Given the description of an element on the screen output the (x, y) to click on. 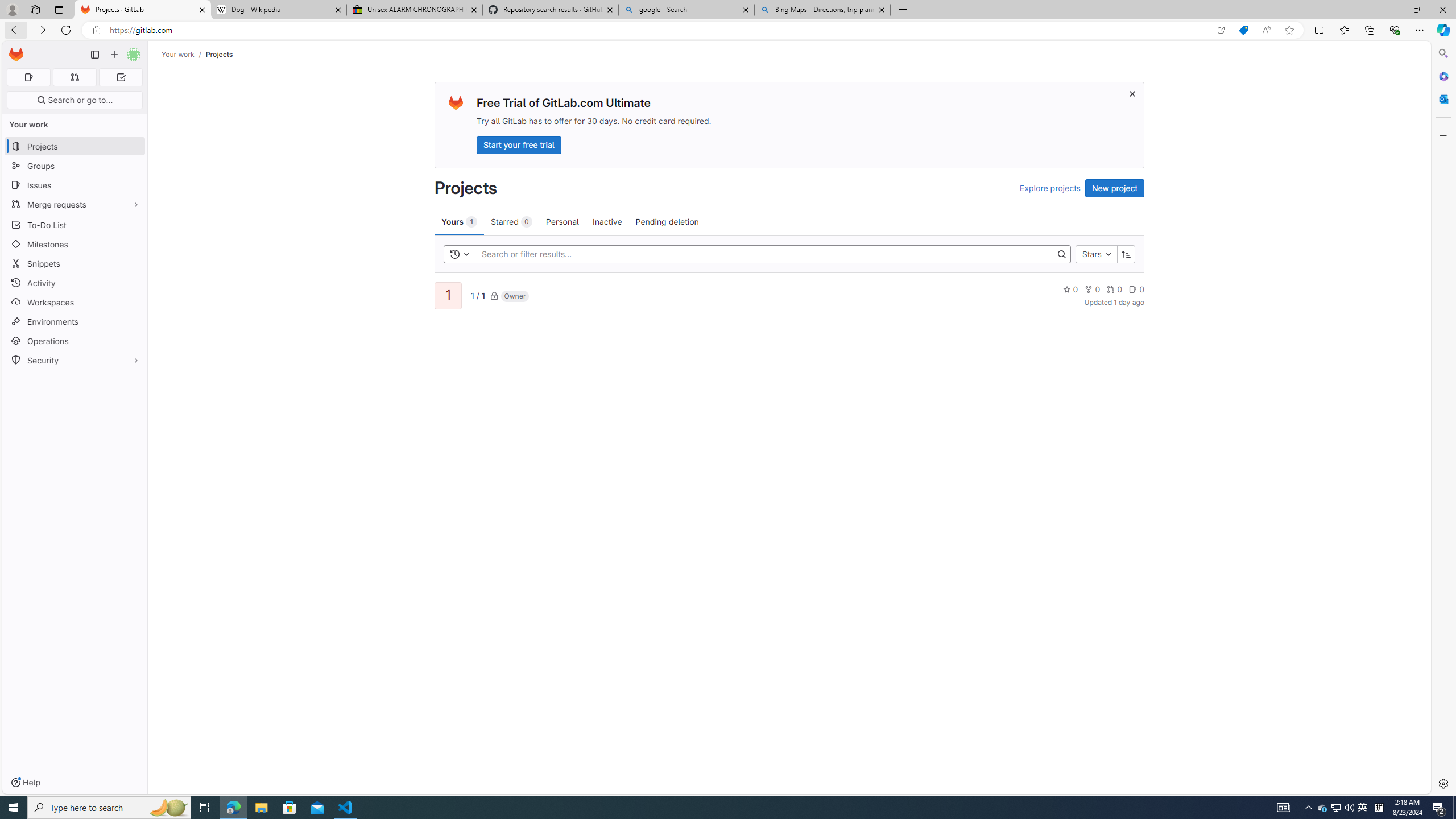
Groups (74, 165)
Merge requests (74, 203)
Skip to main content (13, 49)
Merge requests 0 (74, 76)
Class: s16 gl-icon gl-button-icon  (1132, 93)
Start your free trial (519, 144)
Security (74, 359)
Explore projects (1049, 187)
New project (1114, 187)
Environments (74, 321)
Open in app (1220, 29)
